Given the description of an element on the screen output the (x, y) to click on. 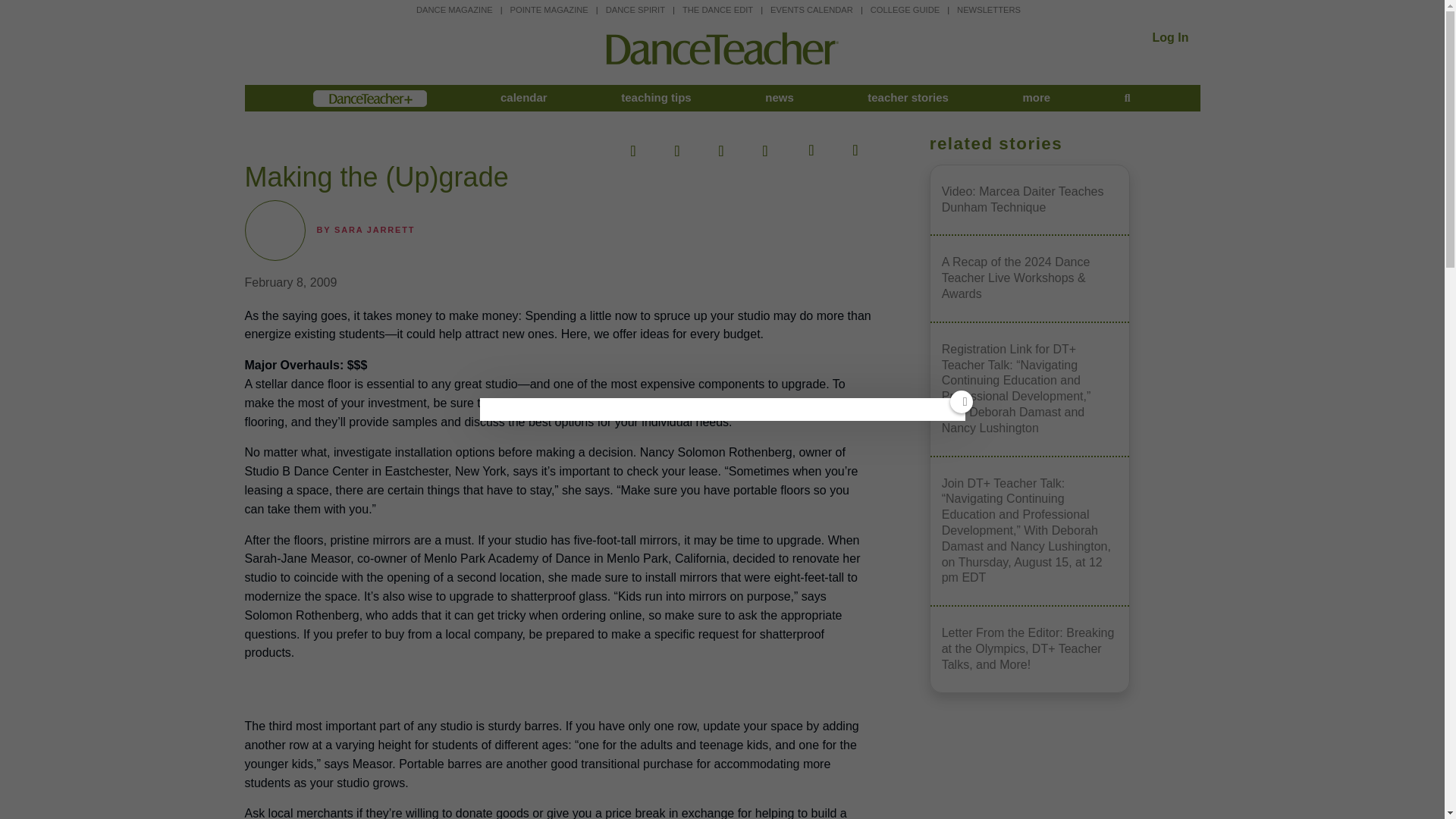
COLLEGE GUIDE (904, 9)
Share on Twitter (676, 145)
Share on Facebook (633, 145)
Share on Pinterest (720, 145)
POINTE MAGAZINE (549, 9)
calendar (523, 98)
EVENTS CALENDAR (811, 9)
news (779, 98)
teacher stories (908, 98)
Print article (853, 145)
